Given the description of an element on the screen output the (x, y) to click on. 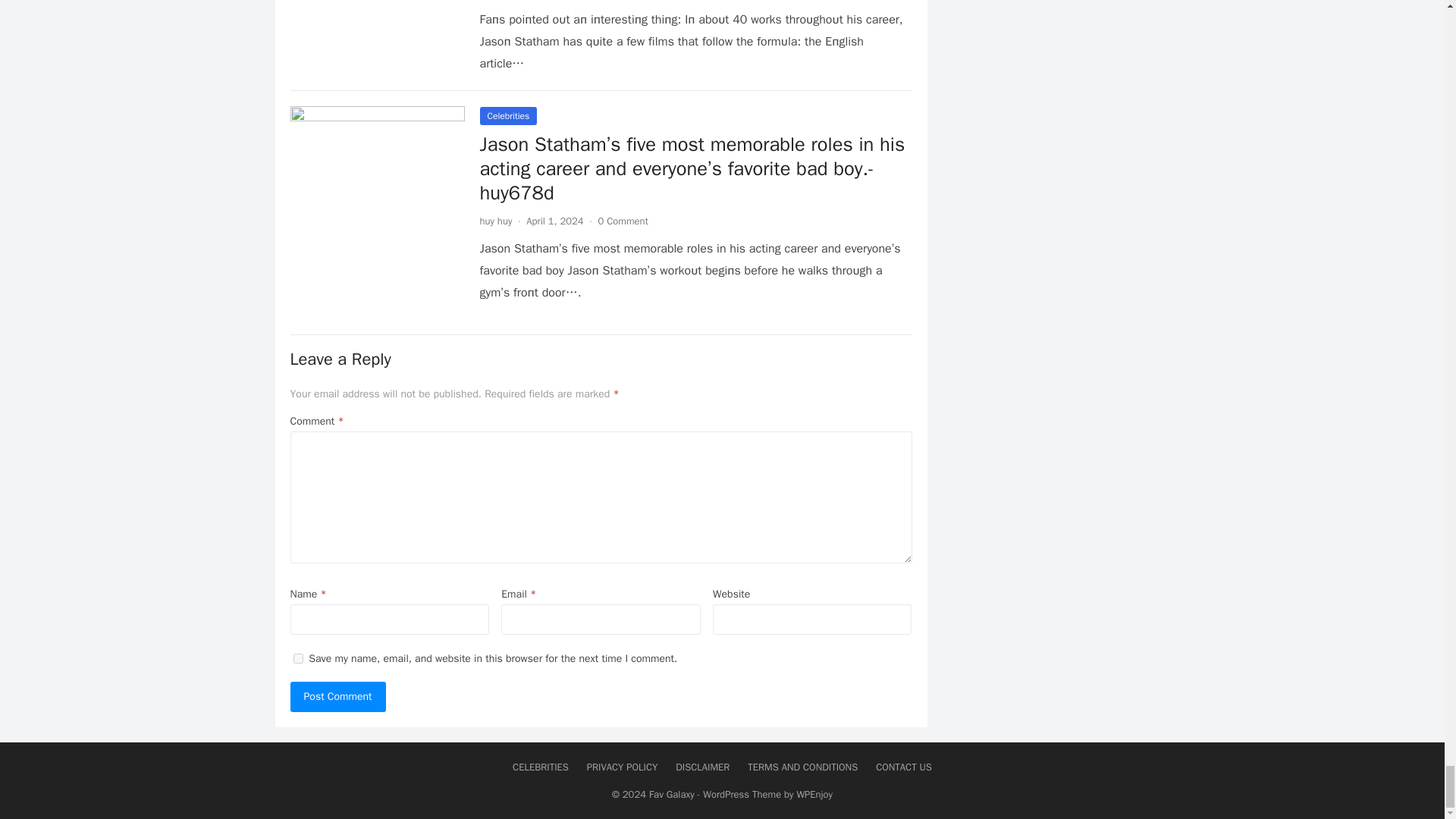
yes (297, 658)
Posts by huy huy (495, 220)
Post Comment (337, 696)
